Given the description of an element on the screen output the (x, y) to click on. 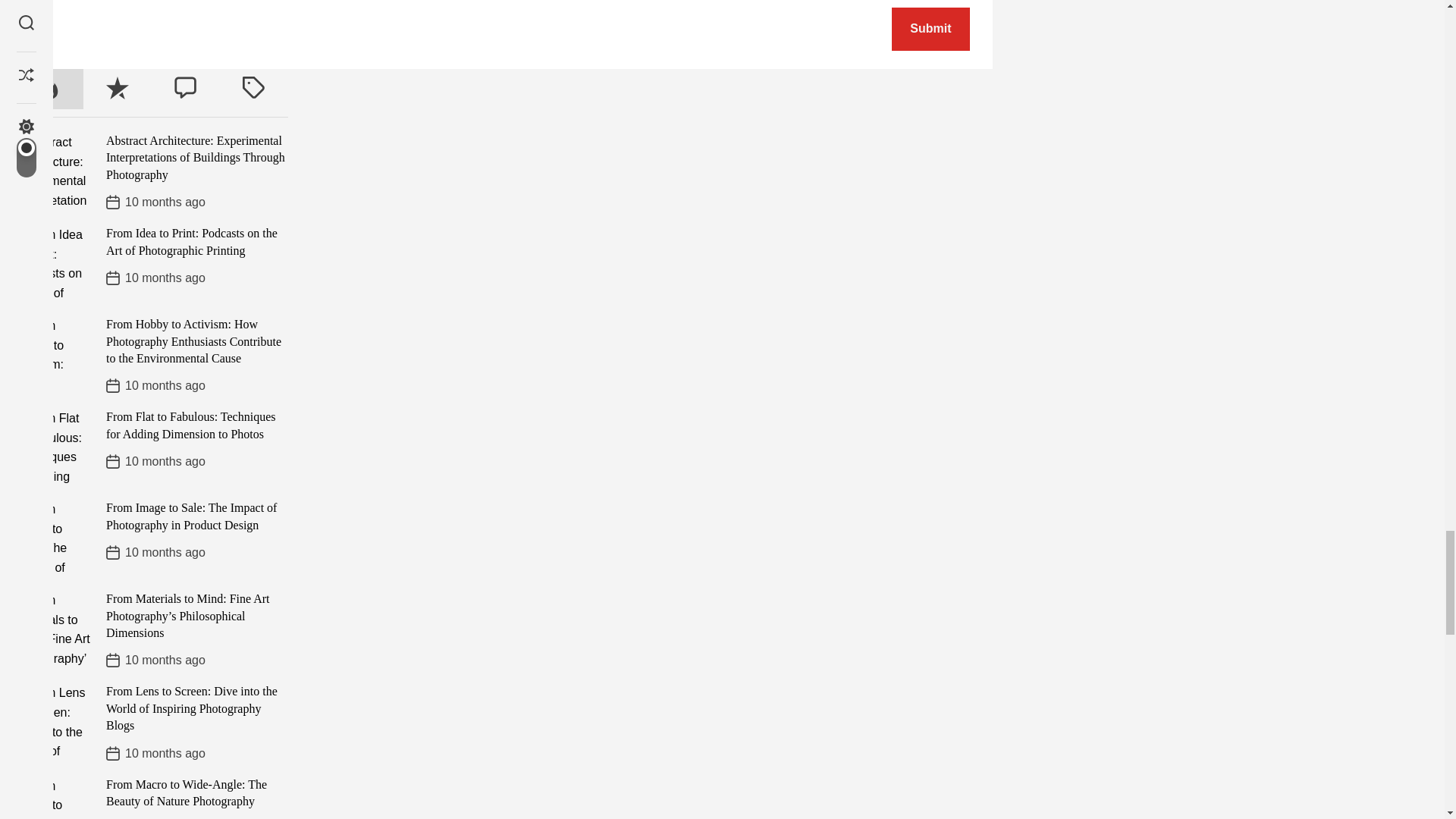
Submit (930, 28)
